Given the description of an element on the screen output the (x, y) to click on. 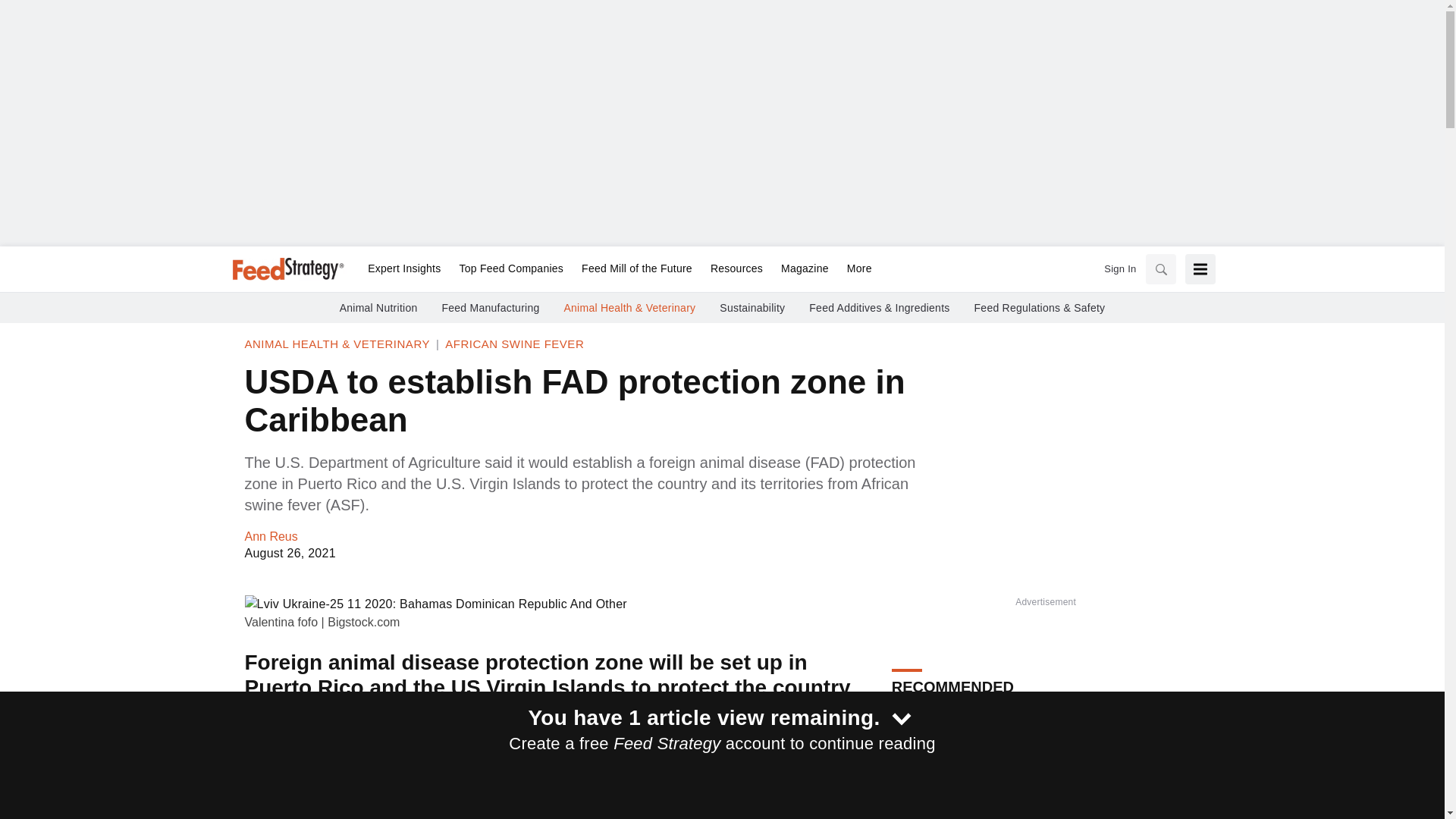
Feed Manufacturing (489, 307)
Magazine (804, 269)
African Swine Fever (514, 343)
Sustainability (751, 307)
Expert Insights (403, 269)
Sign In (1119, 268)
Feed Strategy Podcast (960, 817)
More (855, 269)
Animal Nutrition (378, 307)
Feed Mill of the Future (636, 269)
Resources (736, 269)
Top Feed Companies (511, 269)
